Given the description of an element on the screen output the (x, y) to click on. 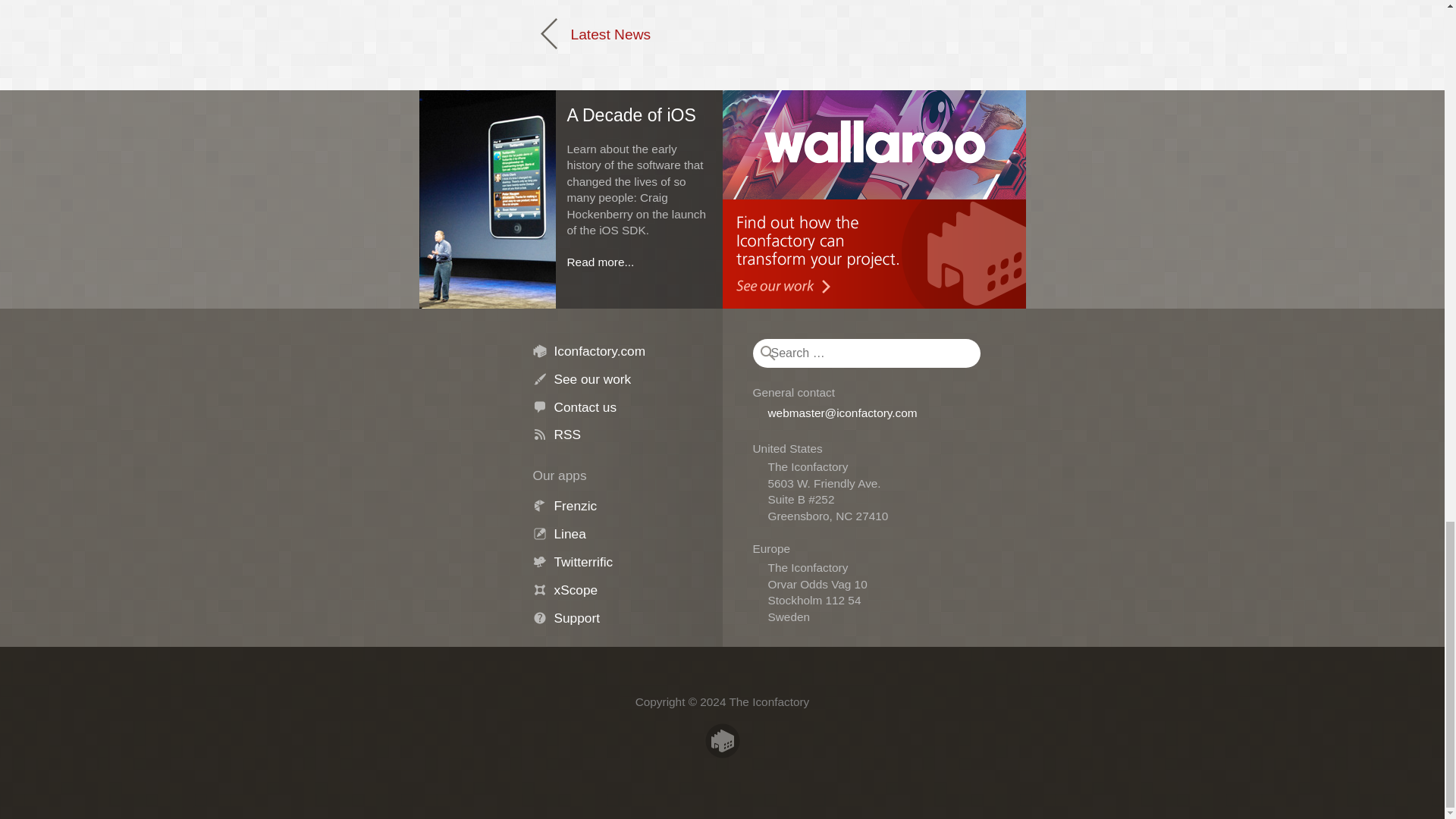
Frenzic (574, 505)
Latest News (596, 33)
Linea (569, 533)
Iconfactory.com (599, 350)
Contact us (584, 406)
xScope (574, 589)
RSS (566, 434)
A Decade of iOS (570, 111)
See our work (591, 378)
Twitterrific (582, 561)
Read more... (600, 261)
Support (575, 617)
